Given the description of an element on the screen output the (x, y) to click on. 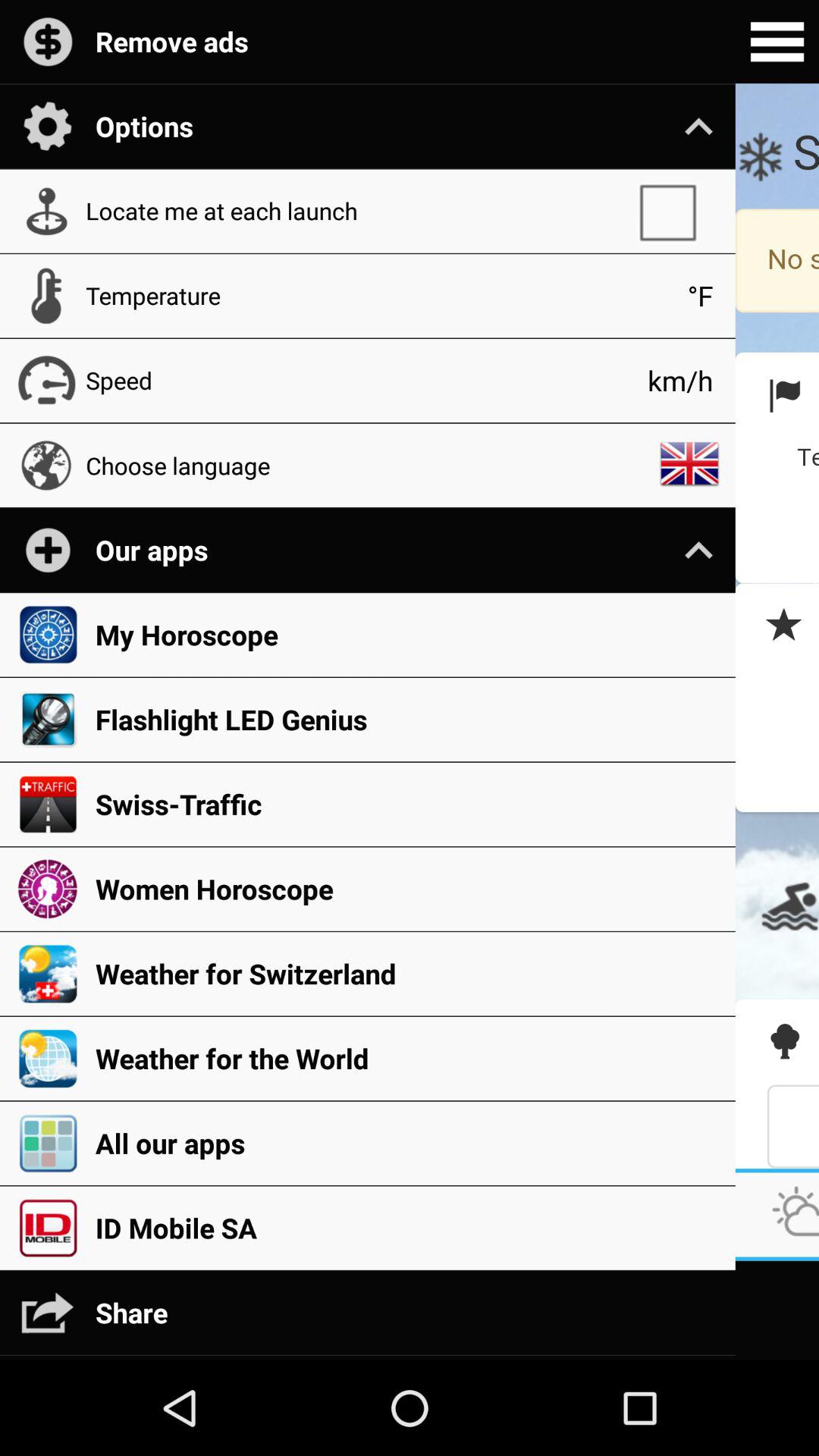
flip to the my horoscope item (407, 634)
